Given the description of an element on the screen output the (x, y) to click on. 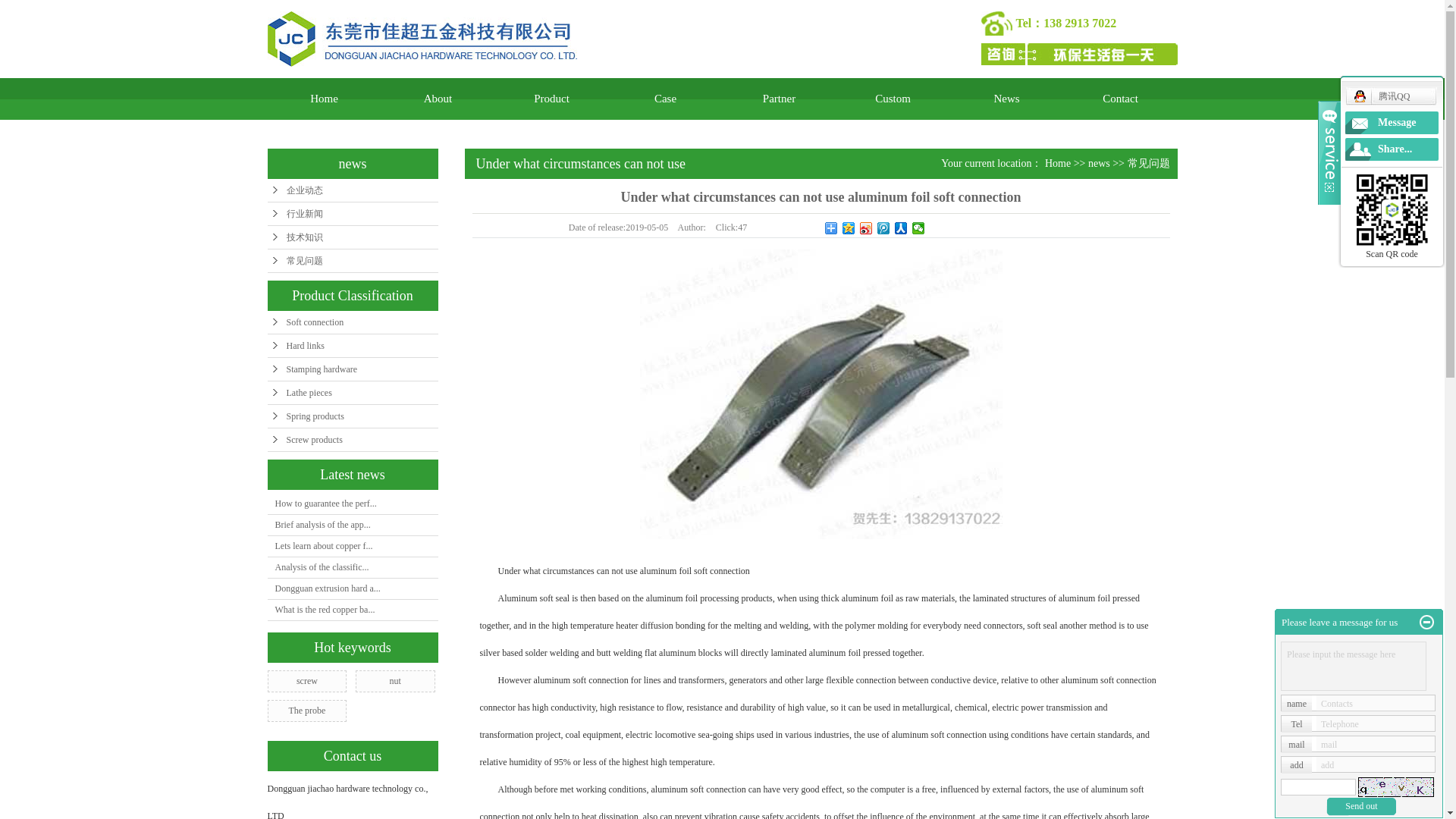
nut (394, 680)
Lathe pieces (352, 392)
Product (551, 98)
Hard links (352, 345)
How to guarantee the perf... (325, 502)
nut (394, 680)
Contact (1119, 98)
News (1005, 98)
Screw products (352, 440)
